Given the description of an element on the screen output the (x, y) to click on. 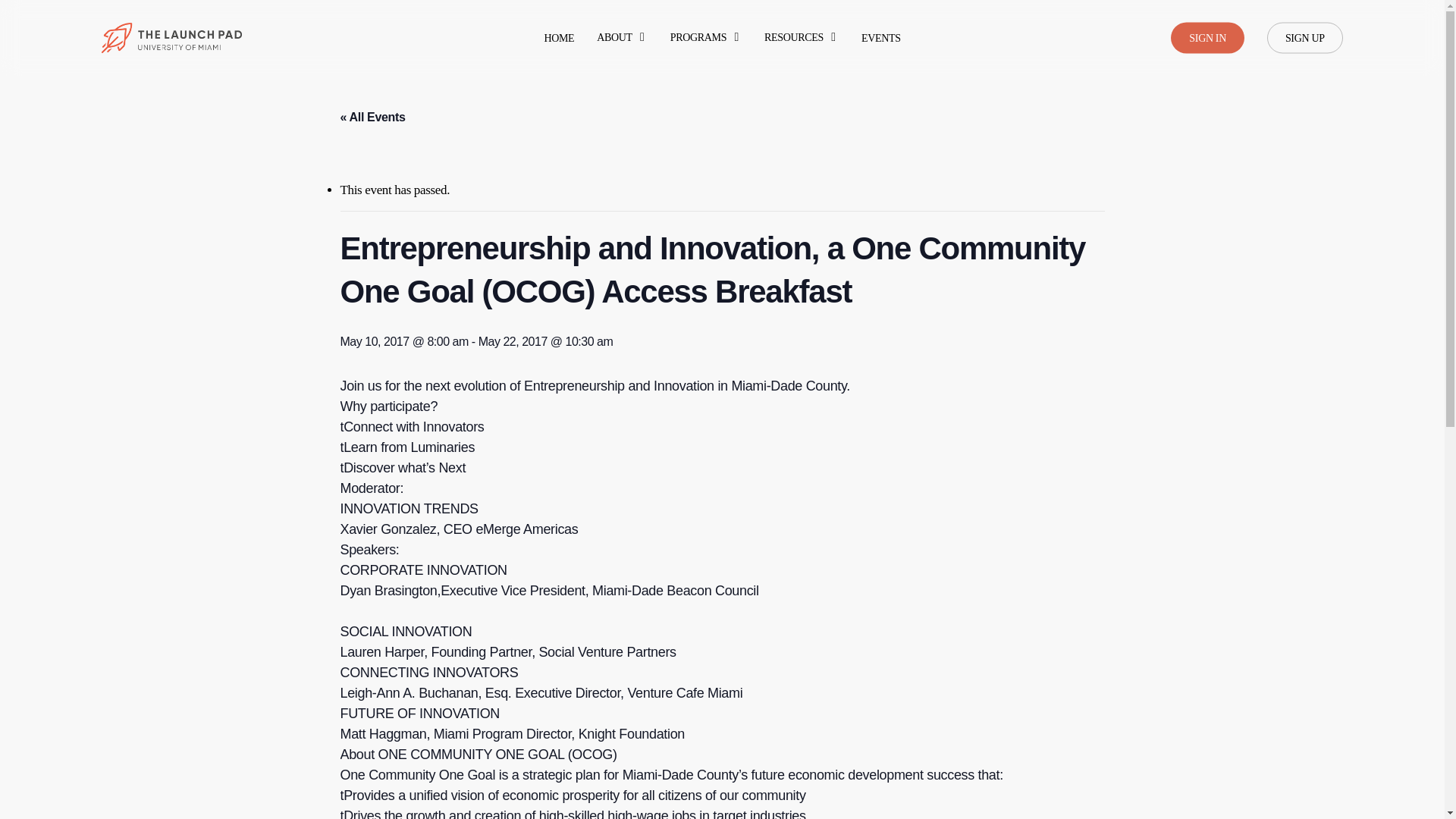
HOME (558, 38)
ABOUT (621, 38)
PROGRAMS (705, 38)
SIGN IN (1207, 38)
RESOURCES (801, 38)
EVENTS (881, 38)
SIGN UP (1304, 38)
